Given the description of an element on the screen output the (x, y) to click on. 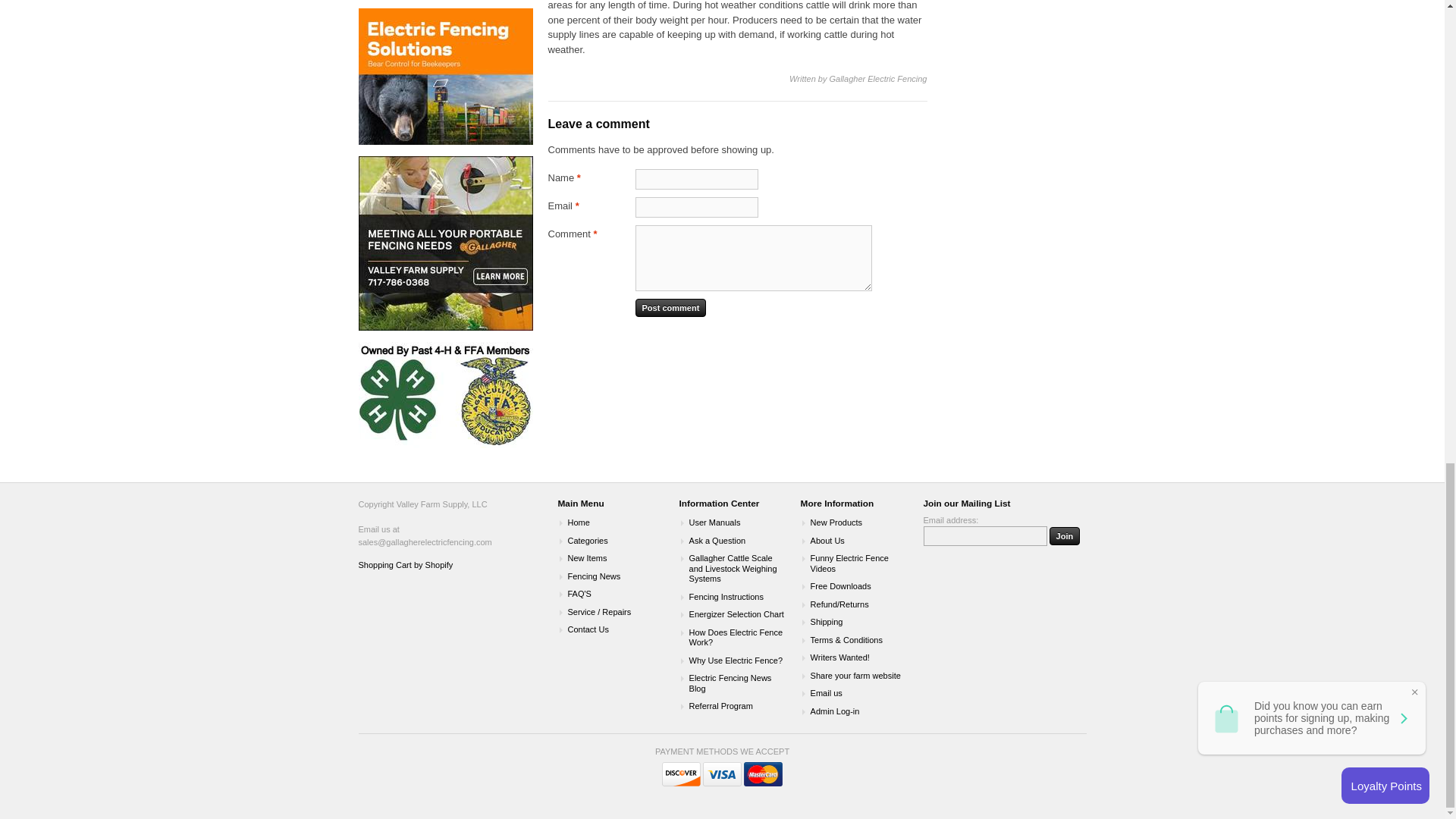
Join (1064, 536)
Post comment (670, 307)
Post comment (670, 307)
